Given the description of an element on the screen output the (x, y) to click on. 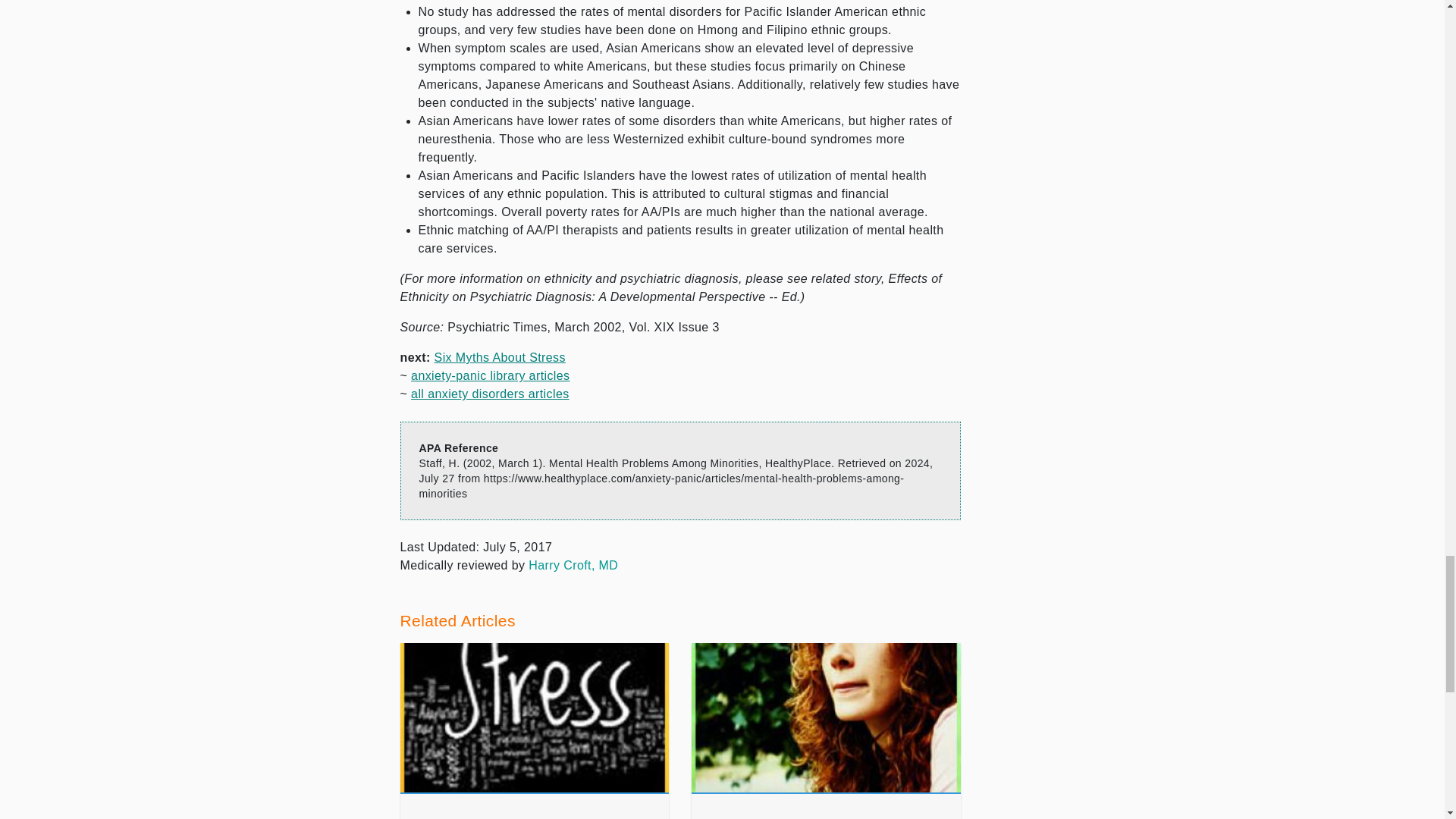
Six Myths About Stress (499, 357)
